Given the description of an element on the screen output the (x, y) to click on. 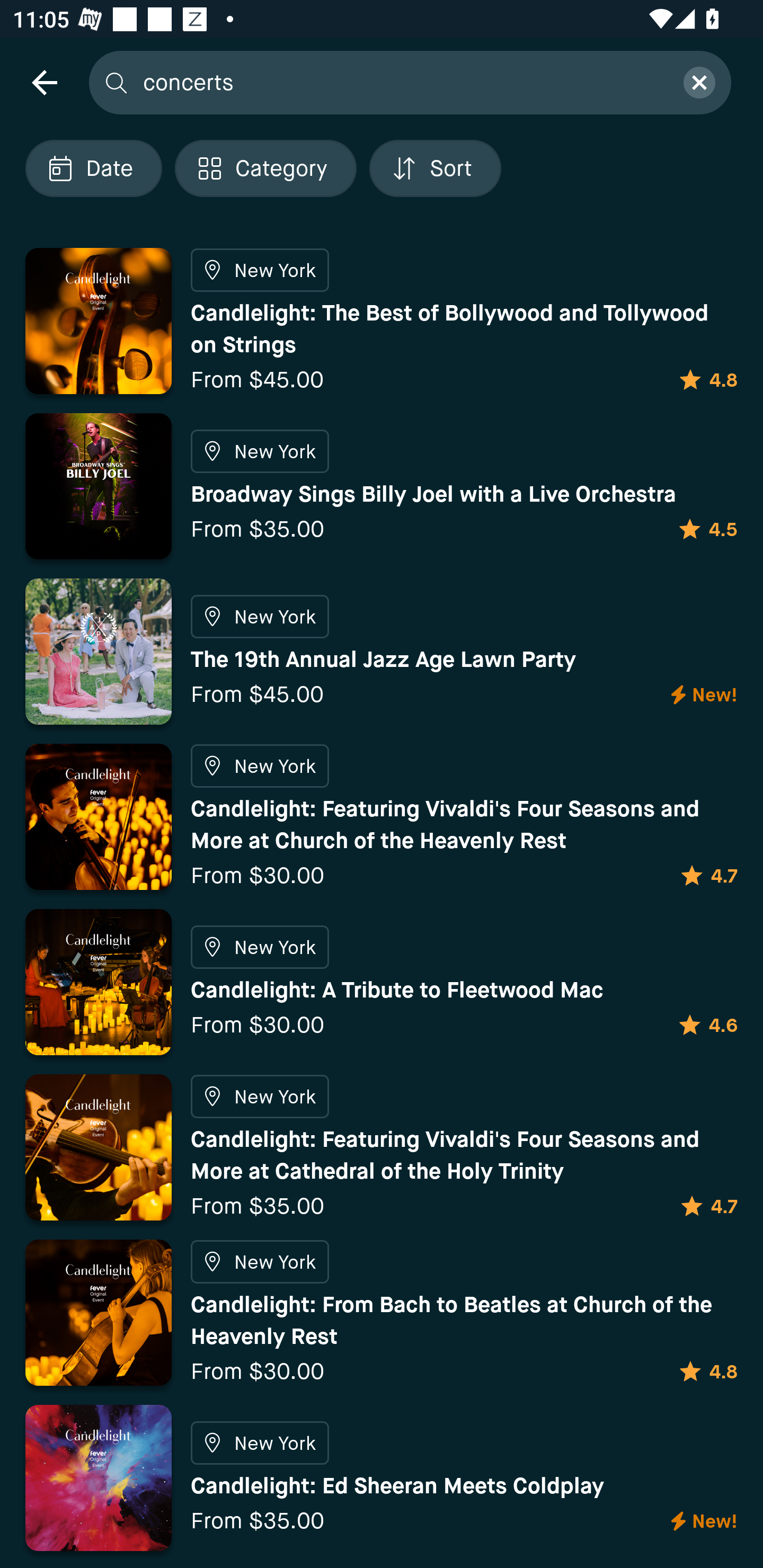
navigation icon (44, 81)
concerts (402, 81)
Localized description Date (93, 168)
Localized description Category (265, 168)
Localized description Sort (435, 168)
